Given the description of an element on the screen output the (x, y) to click on. 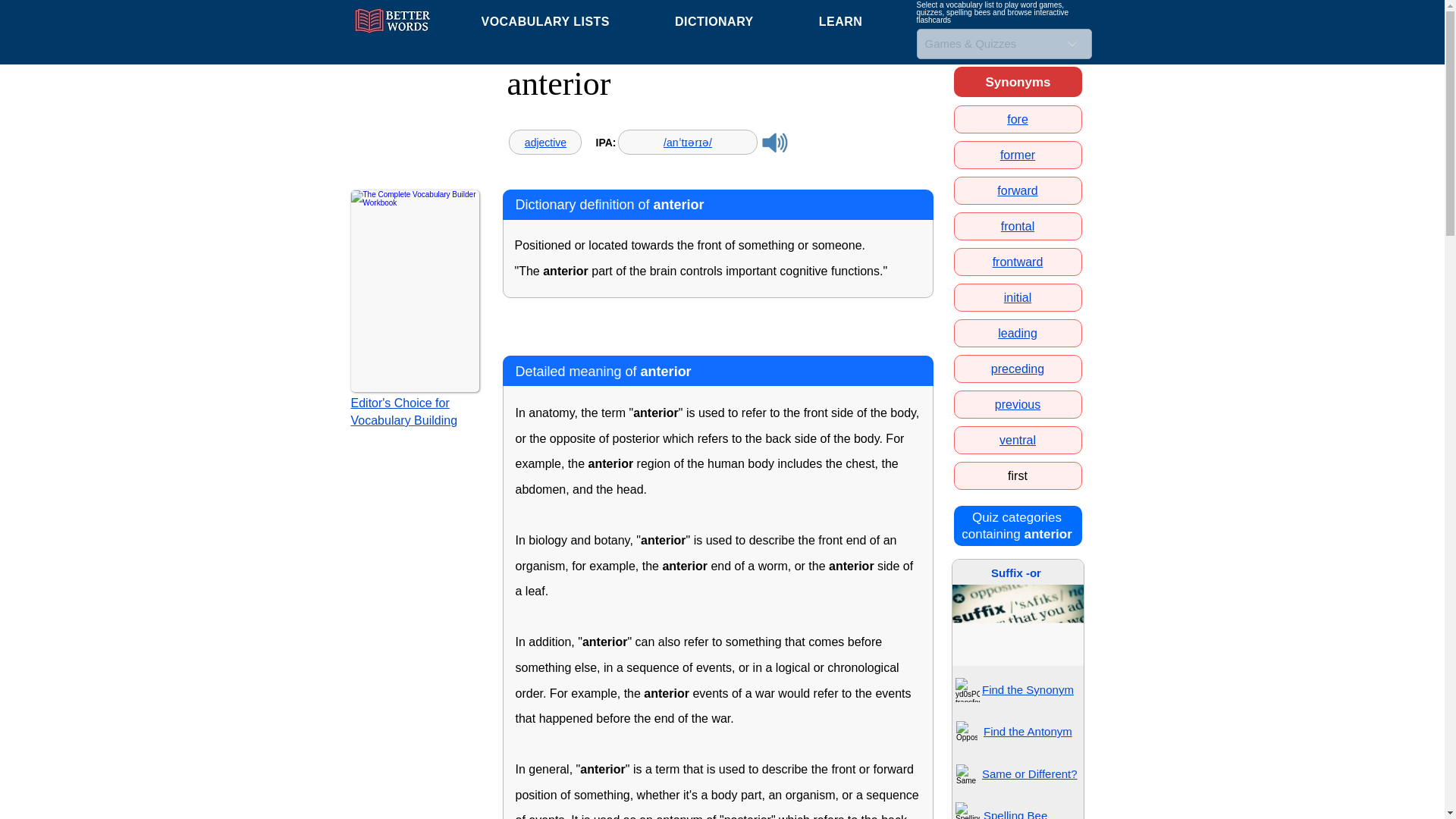
frontward (1017, 261)
Same or Different? (1029, 773)
leading (1016, 332)
Explore 'former' on the dictionary page (1017, 154)
Word Definitions Quiz (967, 689)
Explore 'frontal' on the dictionary page (1017, 226)
adjective (545, 142)
Suffix -or (1016, 572)
Spelling Bee (1015, 814)
Explore 'forward' on the dictionary page (1016, 190)
fore (1017, 119)
Learn how to pronounce 'anterior' with our IPA guide (687, 142)
frontal (1017, 226)
VOCABULARY LISTS (544, 21)
